Given the description of an element on the screen output the (x, y) to click on. 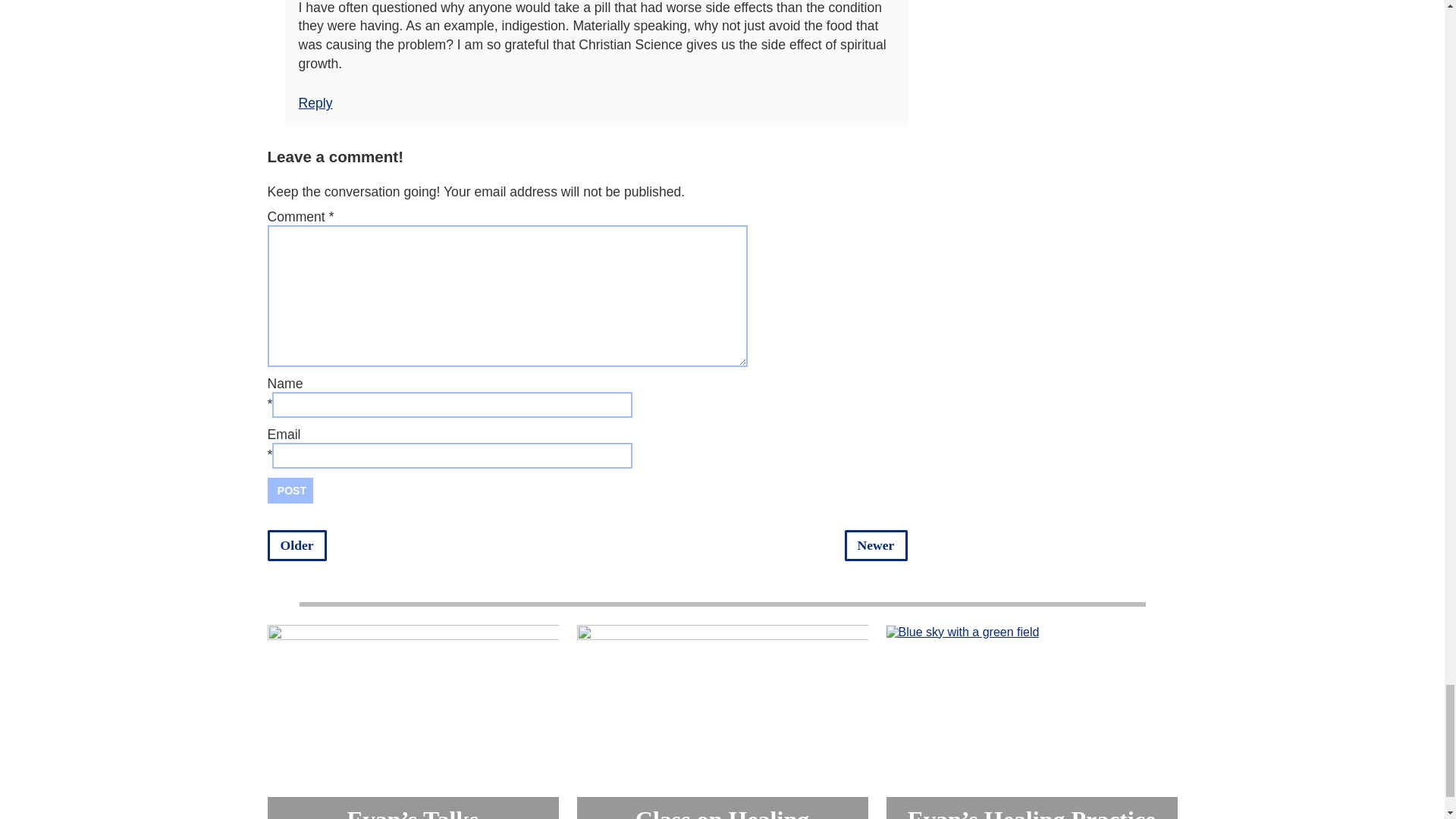
Evan's Healing Practice (962, 632)
Post (289, 490)
